Given the description of an element on the screen output the (x, y) to click on. 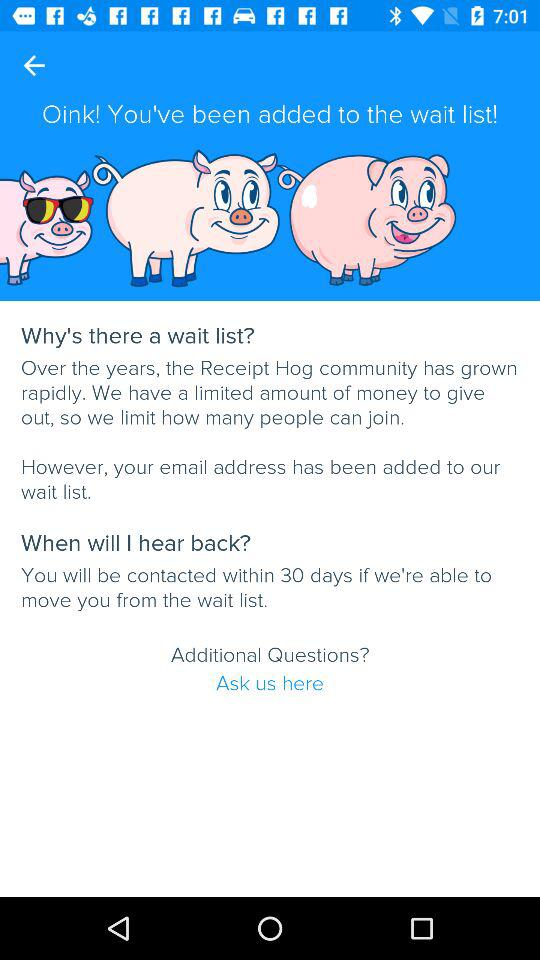
turn on the item above oink you ve icon (33, 65)
